Given the description of an element on the screen output the (x, y) to click on. 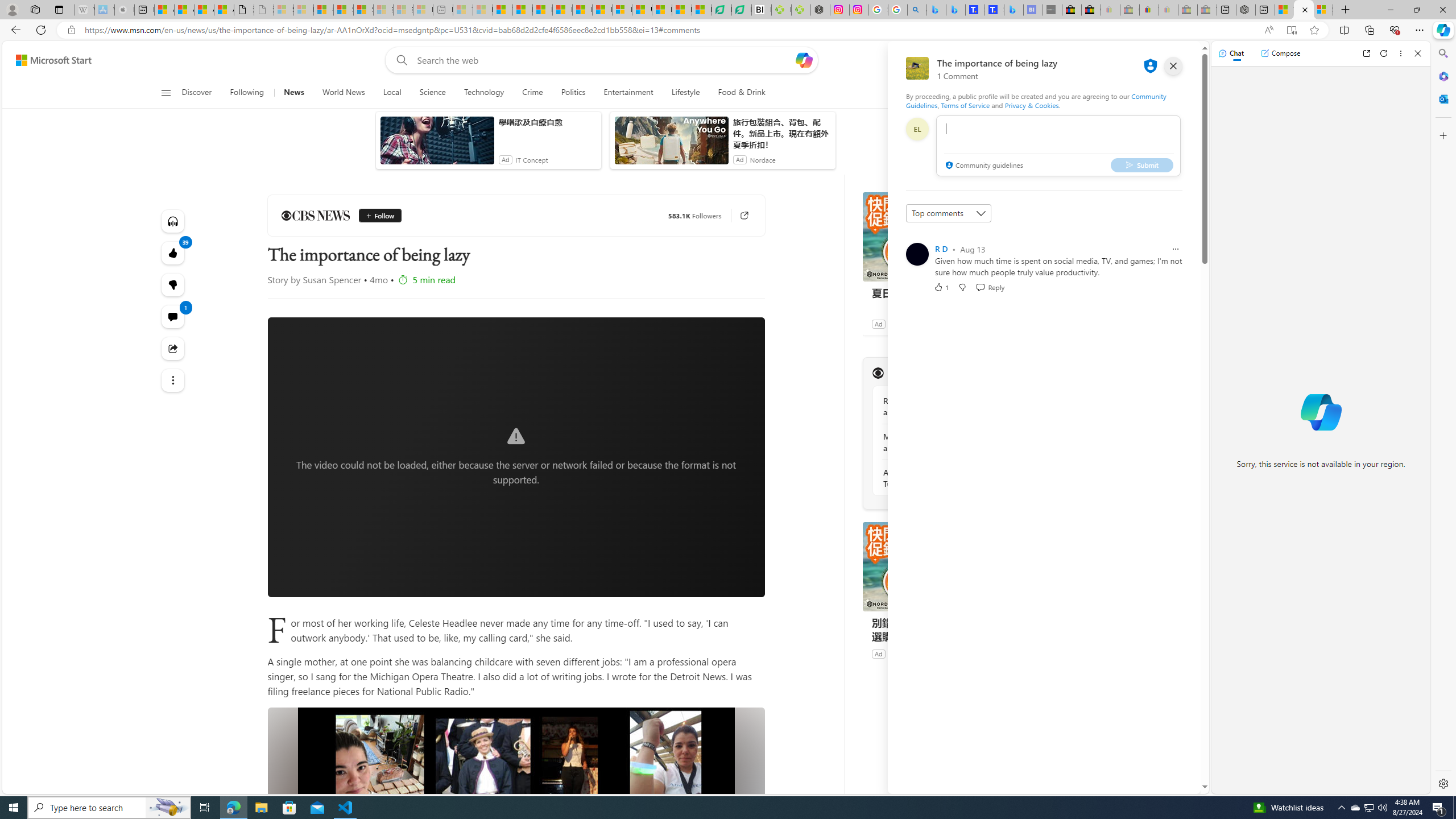
Descarga Driver Updater (800, 9)
Profile Picture (916, 254)
Community Guidelines (1035, 100)
Microsoft Bing Travel - Shangri-La Hotel Bangkok (1012, 9)
IT Concept (531, 159)
Enter your search term (603, 59)
